Given the description of an element on the screen output the (x, y) to click on. 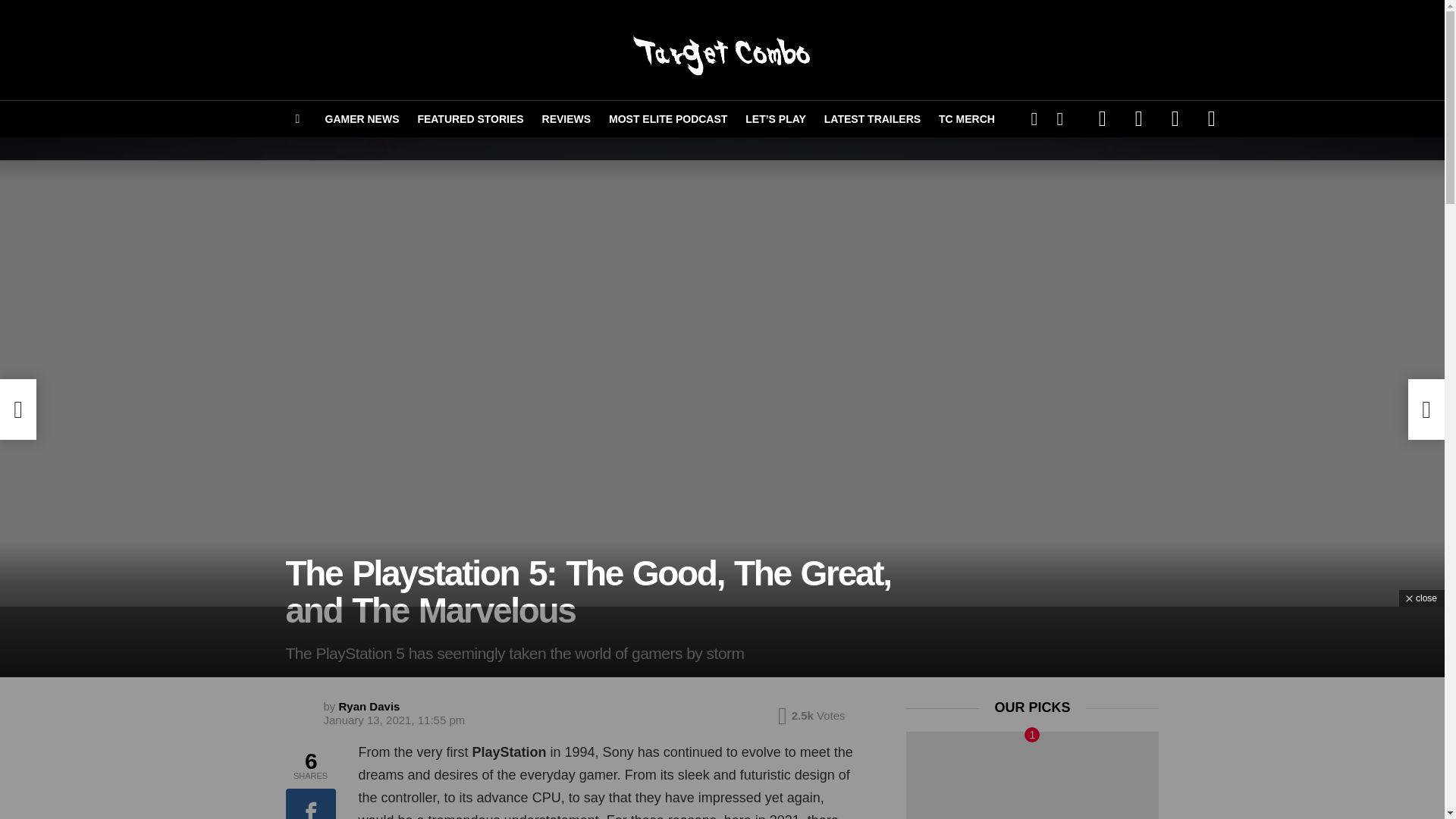
Menu (296, 118)
MOST ELITE PODCAST (668, 118)
Posts by Ryan Davis (369, 706)
Sign up (947, 227)
LATEST TRAILERS (872, 118)
FEATURED STORIES (470, 118)
TC MERCH (967, 118)
GAMER NEWS (361, 118)
twitter (1139, 118)
Ryan Davis (369, 706)
instagram (1175, 118)
REVIEWS (566, 118)
youtube (1211, 118)
